Given the description of an element on the screen output the (x, y) to click on. 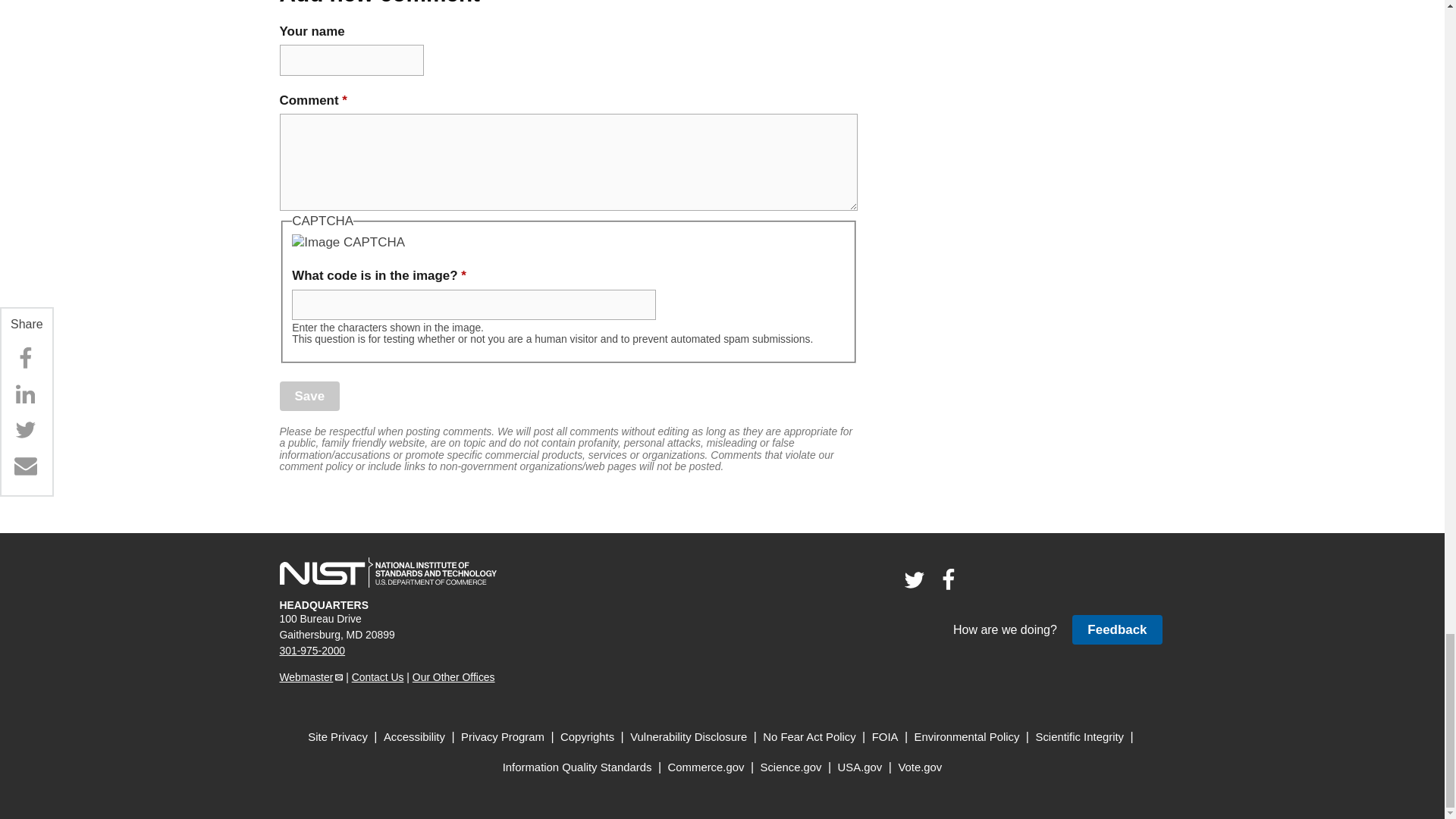
Provide feedback (1116, 629)
Image CAPTCHA (348, 242)
National Institute of Standards and Technology (387, 572)
Save (309, 396)
Save (309, 396)
